Given the description of an element on the screen output the (x, y) to click on. 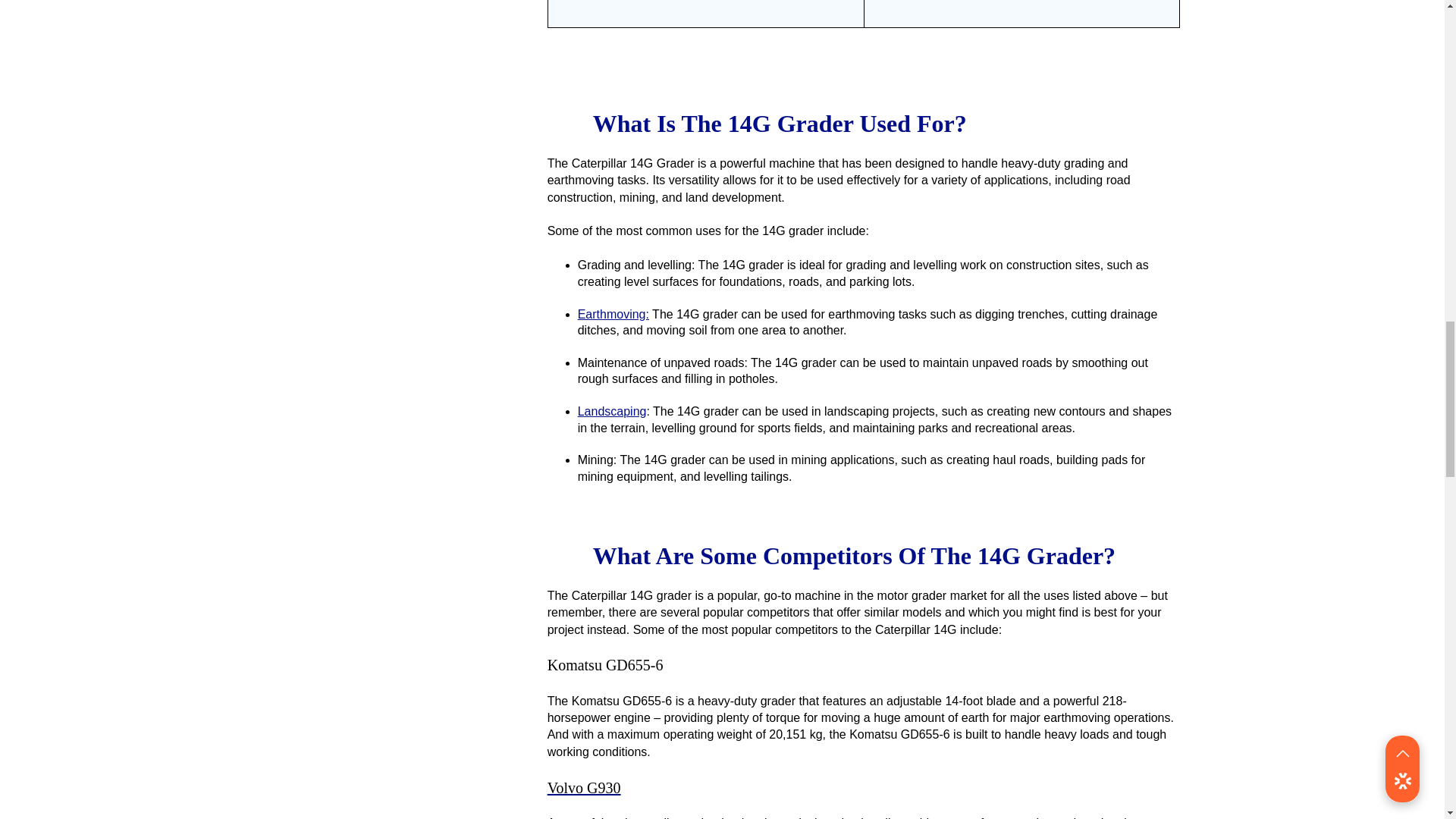
3rd party ad content (391, 37)
